Given the description of an element on the screen output the (x, y) to click on. 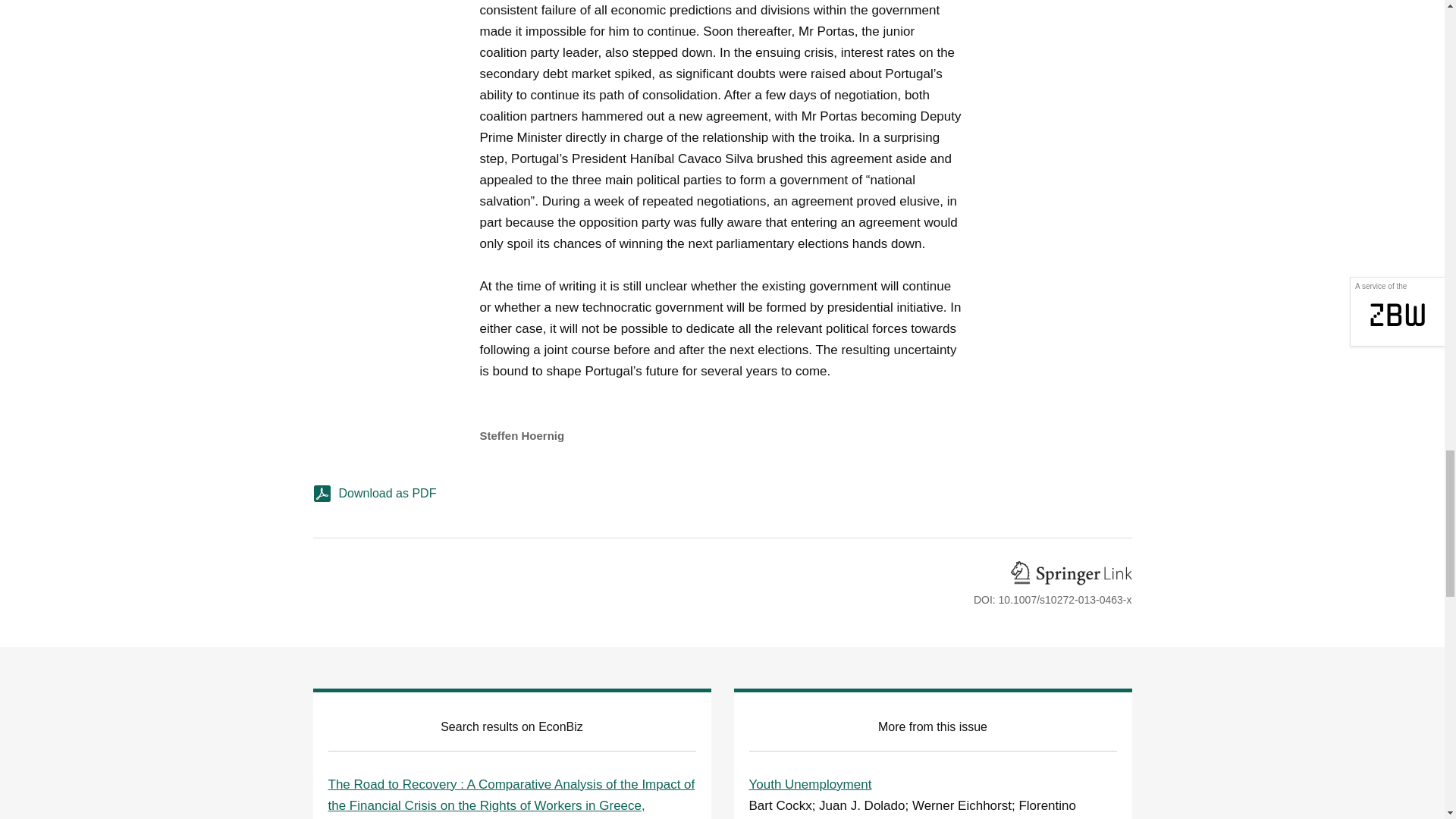
Youth Unemployment (810, 783)
Download as PDF (722, 499)
